Given the description of an element on the screen output the (x, y) to click on. 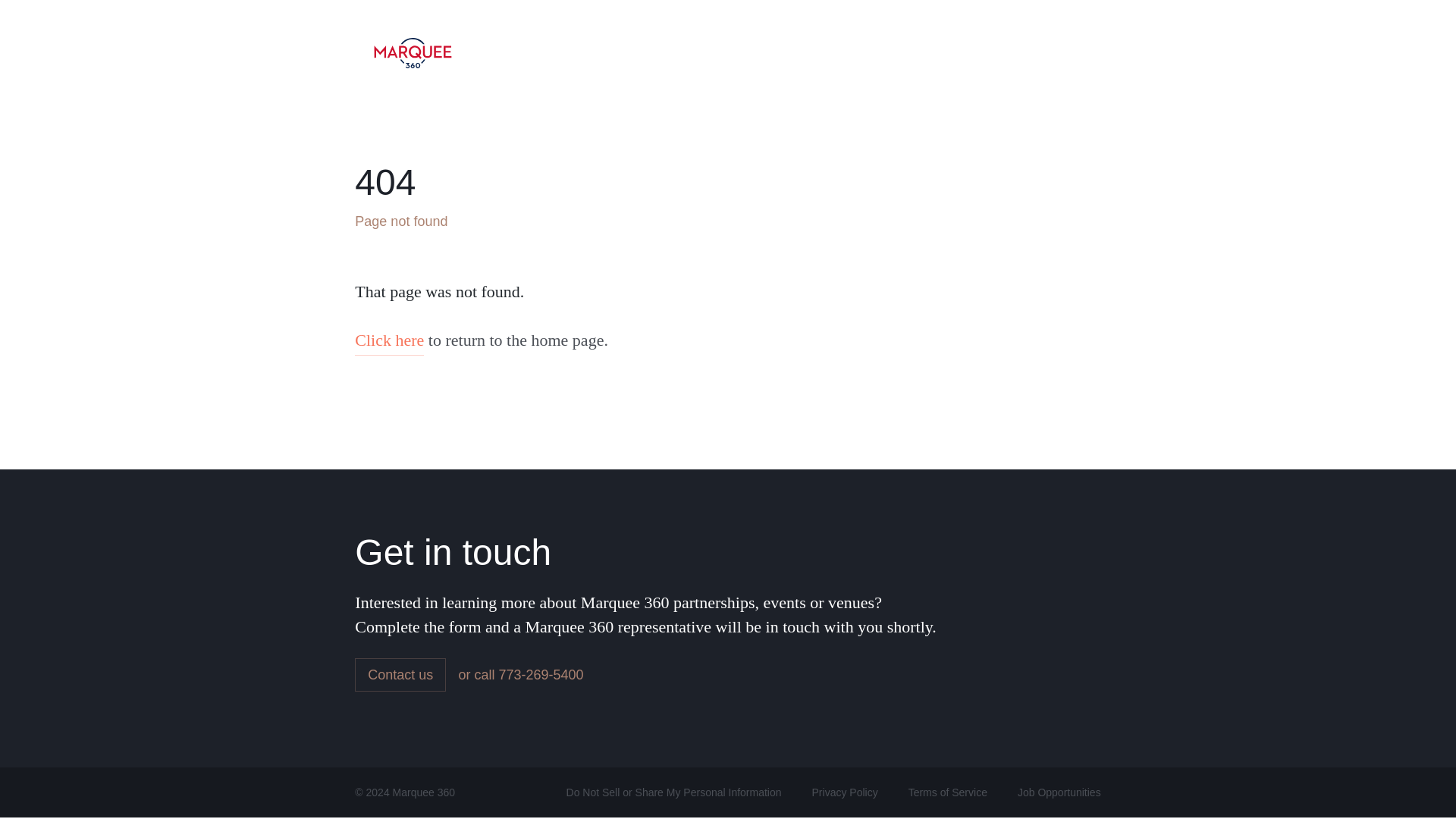
Job Opportunities (1058, 792)
Do Not Sell or Share My Personal Information (673, 792)
Contact us (1083, 52)
Click here (389, 343)
773-269-5400 (540, 674)
Contact us (400, 674)
Terms of Service (947, 792)
Privacy Policy (844, 792)
